Given the description of an element on the screen output the (x, y) to click on. 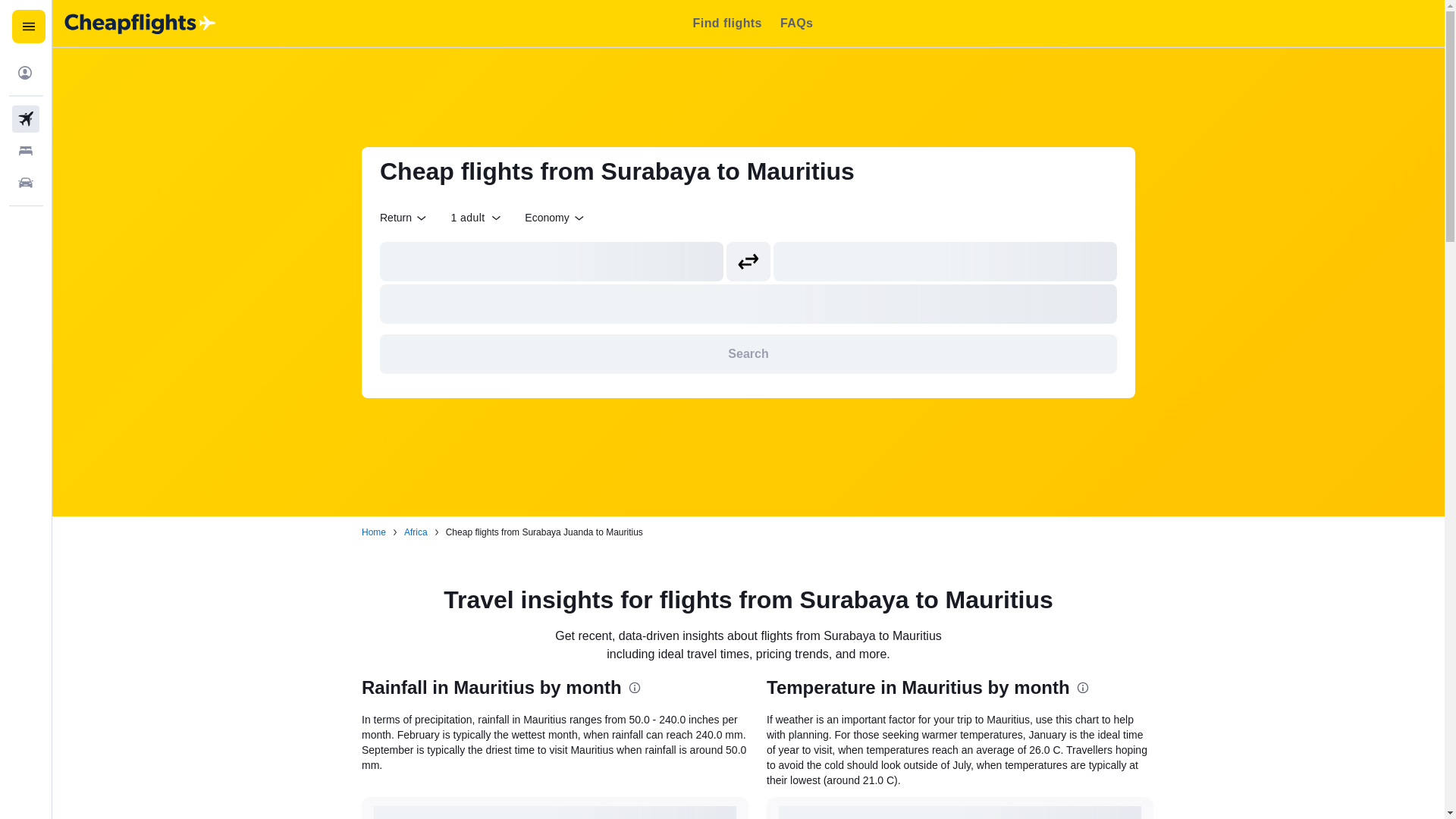
Search (748, 353)
Africa (416, 531)
Search (748, 353)
Home (373, 531)
